Given the description of an element on the screen output the (x, y) to click on. 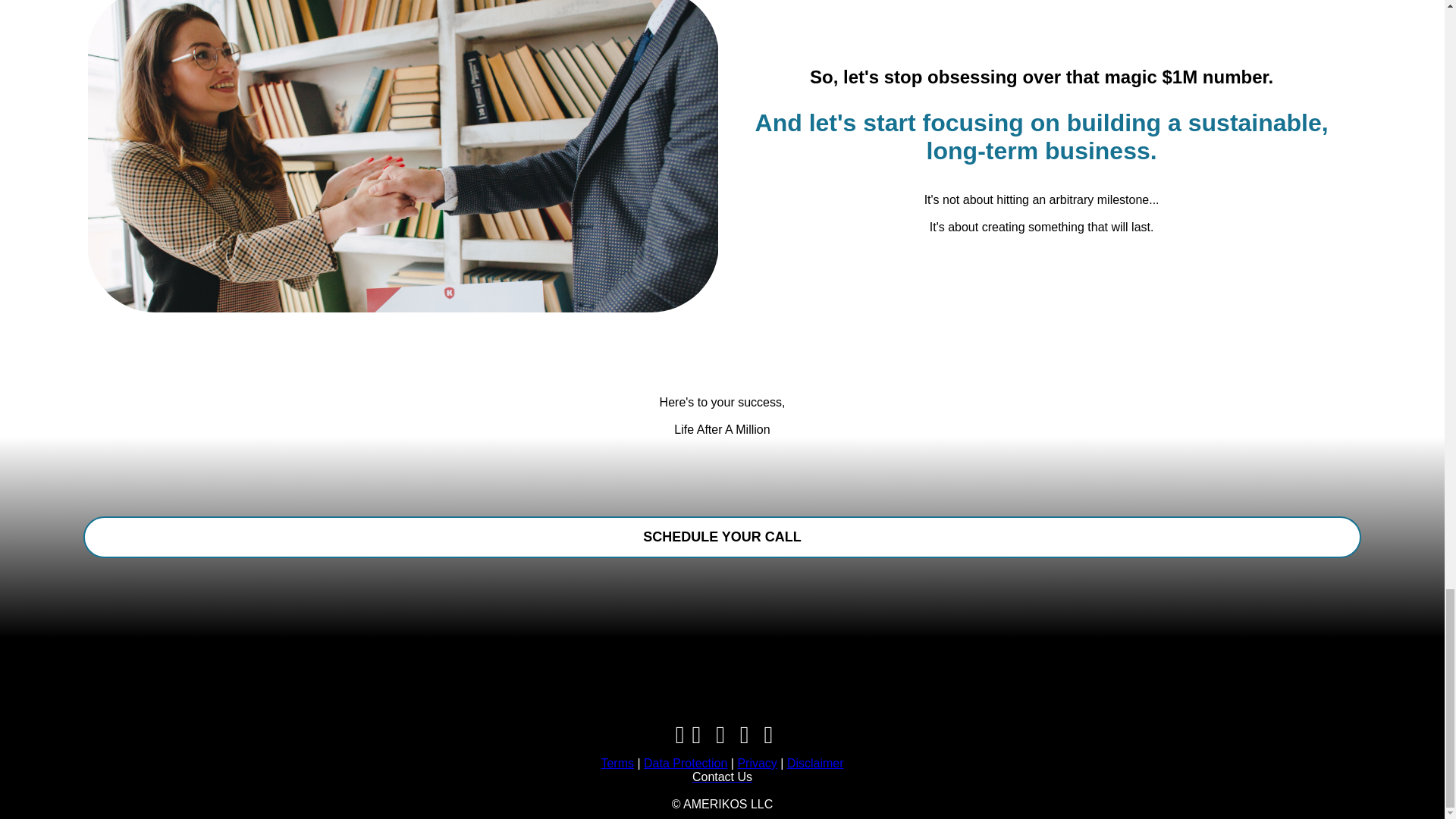
Contact Us (722, 776)
Disclaimer (815, 762)
Terms (616, 762)
SCHEDULE YOUR CALL (721, 536)
Privacy (756, 762)
Data Protection (684, 762)
